Given the description of an element on the screen output the (x, y) to click on. 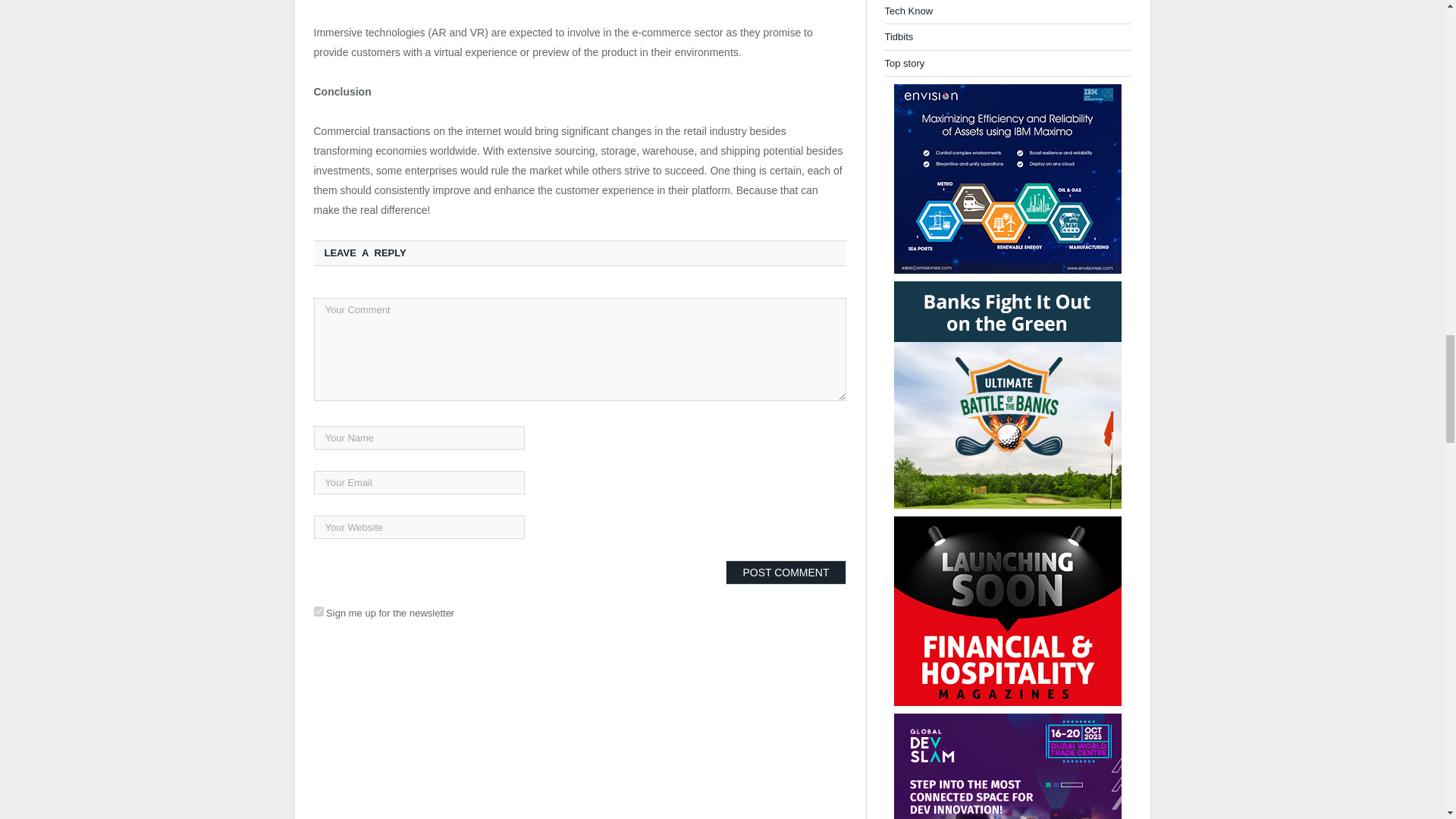
Post Comment (785, 572)
1 (318, 611)
